Given the description of an element on the screen output the (x, y) to click on. 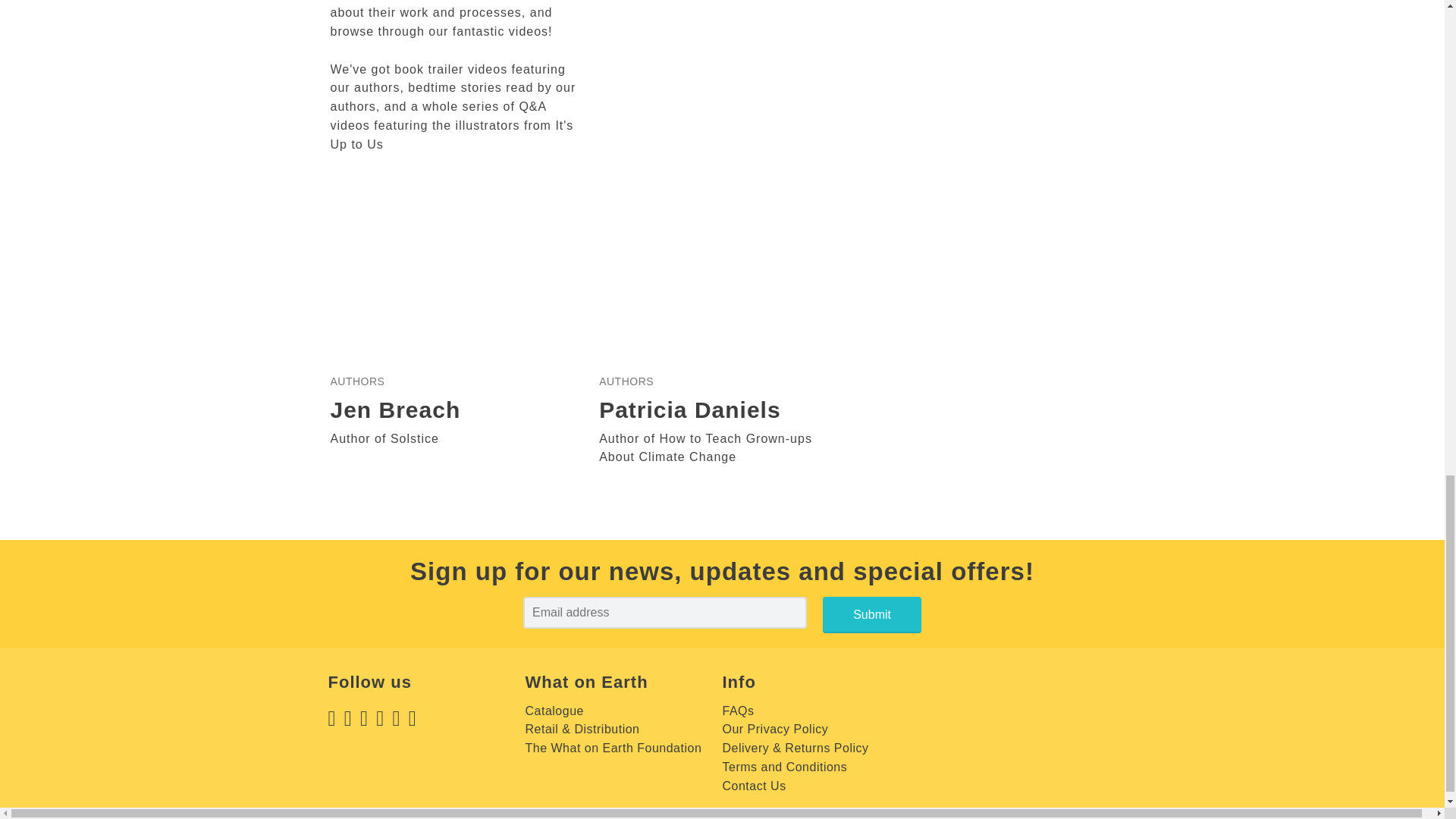
Patricia Daniels (689, 409)
Jen Breach (395, 409)
